Given the description of an element on the screen output the (x, y) to click on. 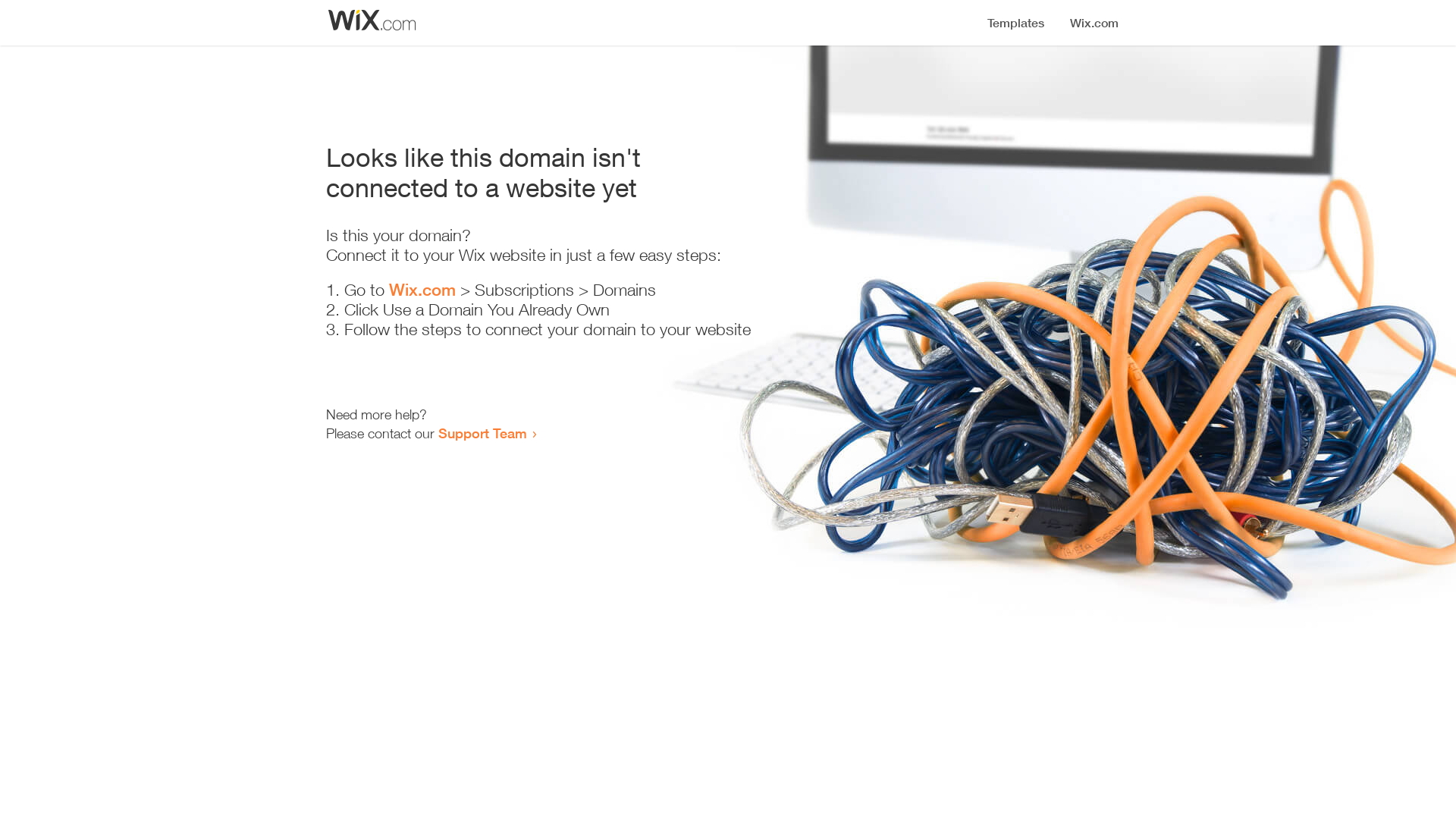
Support Team Element type: text (482, 432)
Wix.com Element type: text (422, 289)
